Given the description of an element on the screen output the (x, y) to click on. 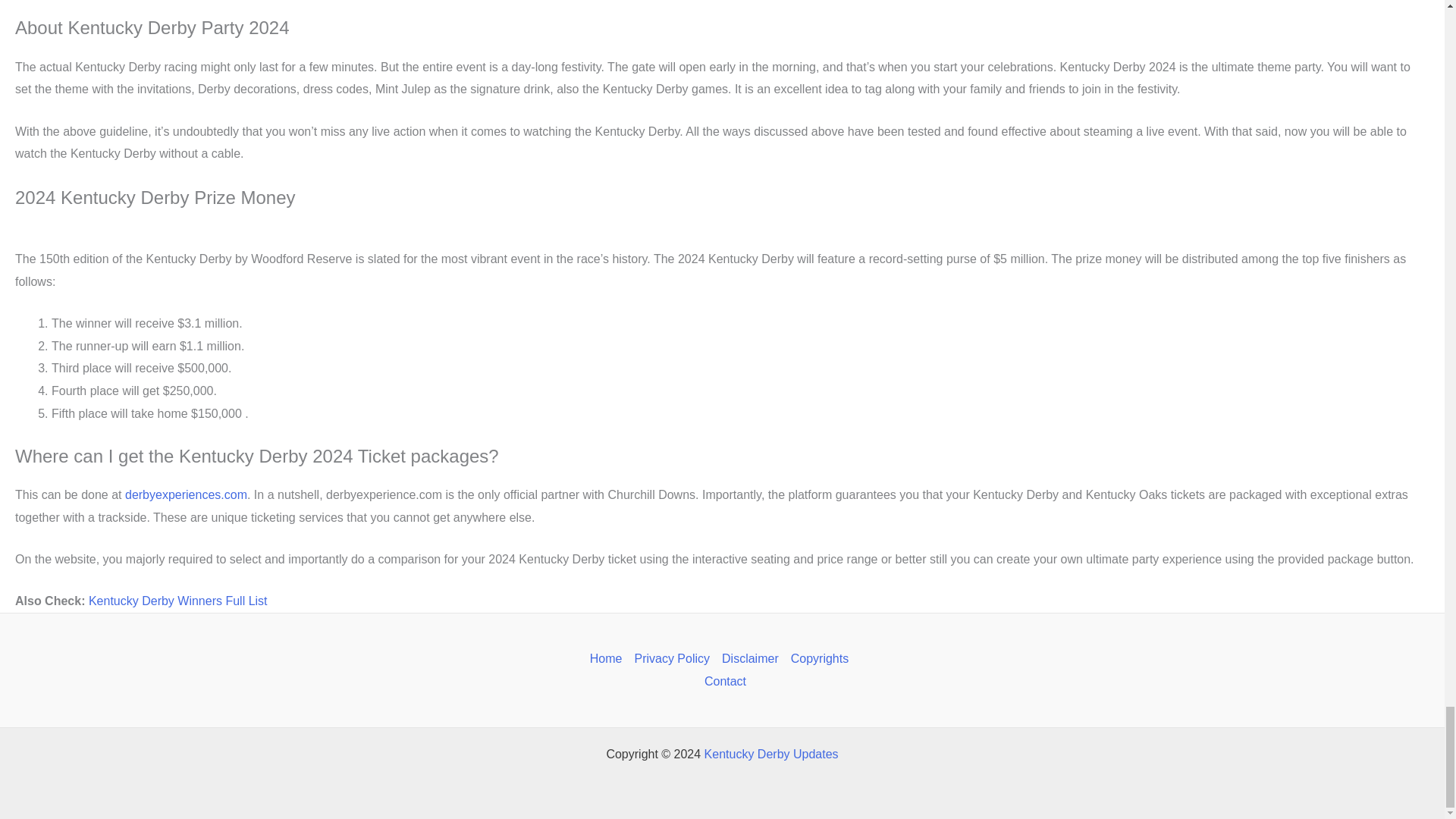
Home (608, 658)
derbyexperiences.com (186, 494)
Privacy Policy (671, 658)
Kentucky Derby Updates (771, 753)
Contact (721, 681)
Kentucky Derby Winners Full List (177, 600)
Copyrights (819, 658)
Disclaimer (750, 658)
